Given the description of an element on the screen output the (x, y) to click on. 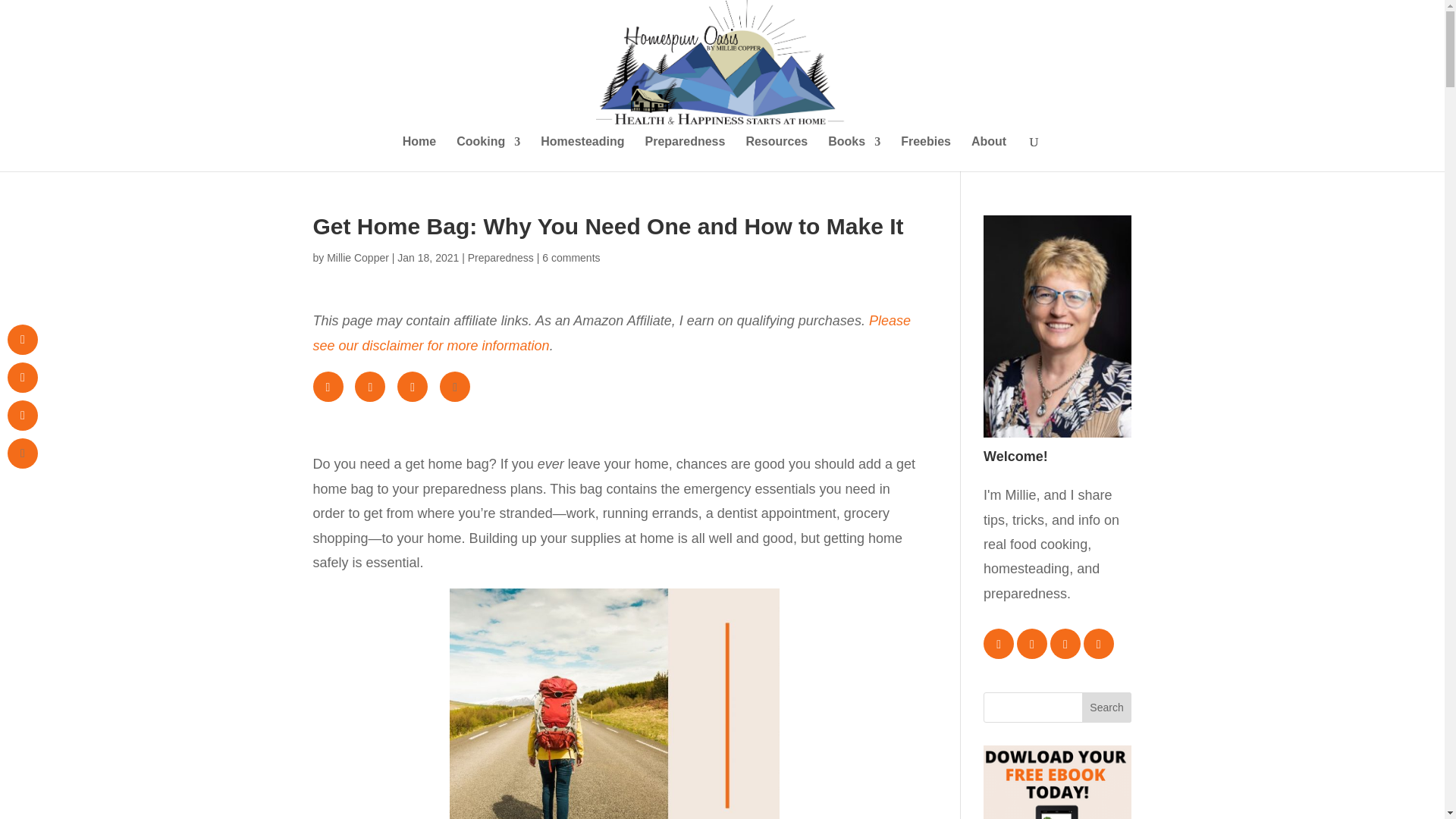
Cooking (488, 153)
Homesteading (582, 153)
Millie Copper (357, 257)
Homesteading (582, 153)
Home (419, 153)
Freebies (925, 153)
Resources (776, 153)
Books (854, 153)
Home (419, 153)
Preparedness (685, 153)
Resources (776, 153)
Search (1106, 707)
Cooking (488, 153)
Preparedness (685, 153)
About (988, 153)
